Given the description of an element on the screen output the (x, y) to click on. 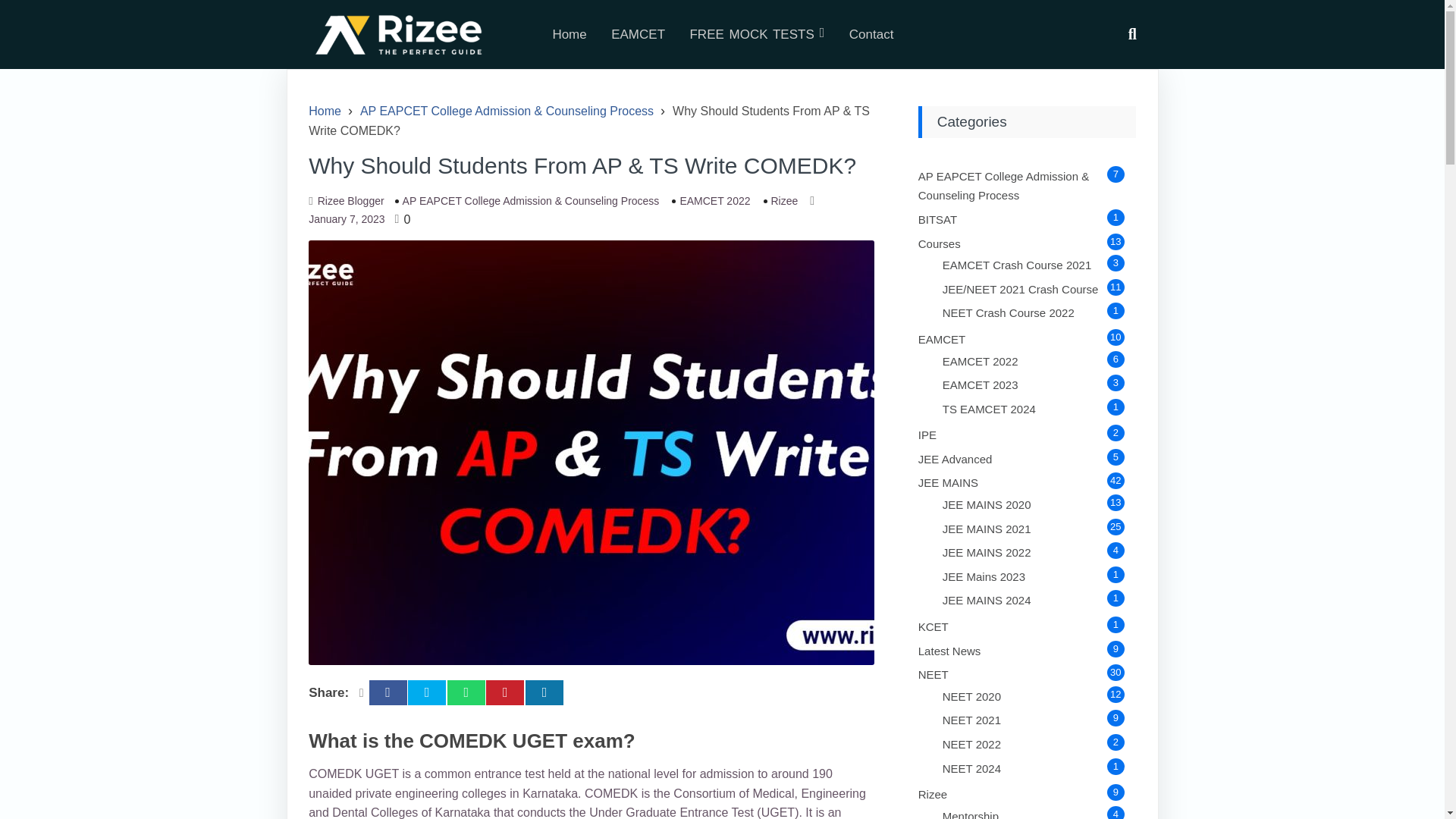
EAMCET (637, 33)
EAMCET 2022 (979, 360)
Rizee Blogger (350, 200)
pinterest (505, 692)
Courses (939, 243)
FREE MOCK TESTS (756, 34)
AP , TS - INTERMEDIATE BOARD EXAMS - IPE (927, 434)
EAMCET 2022 (710, 200)
BITSAT (937, 219)
whatsapp (466, 692)
